Given the description of an element on the screen output the (x, y) to click on. 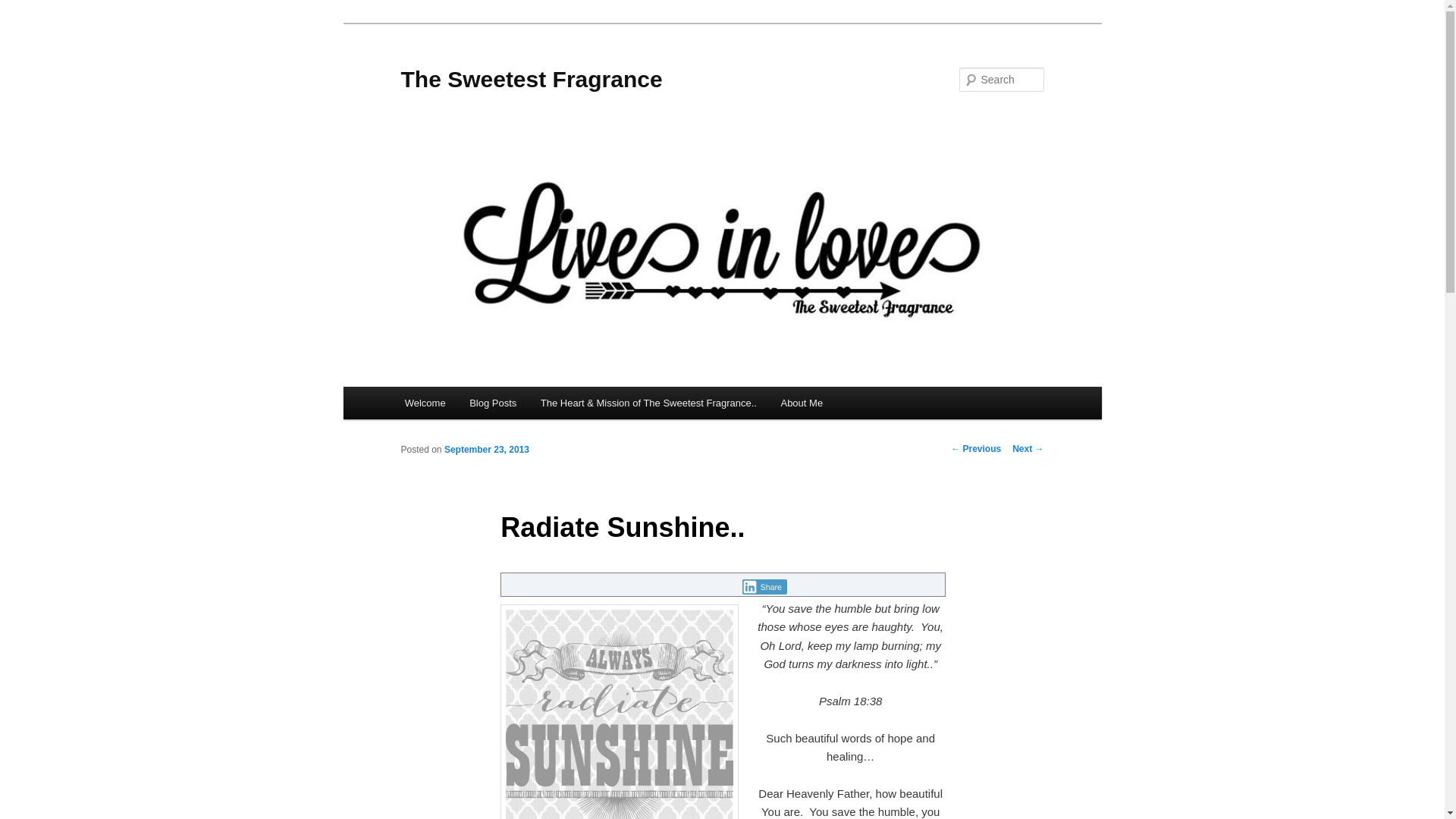
9:21 am (486, 449)
Search (24, 8)
Welcome (425, 402)
Blog Posts (492, 402)
About Me (801, 402)
September 23, 2013 (486, 449)
The Sweetest Fragrance (531, 78)
Share (764, 586)
